Given the description of an element on the screen output the (x, y) to click on. 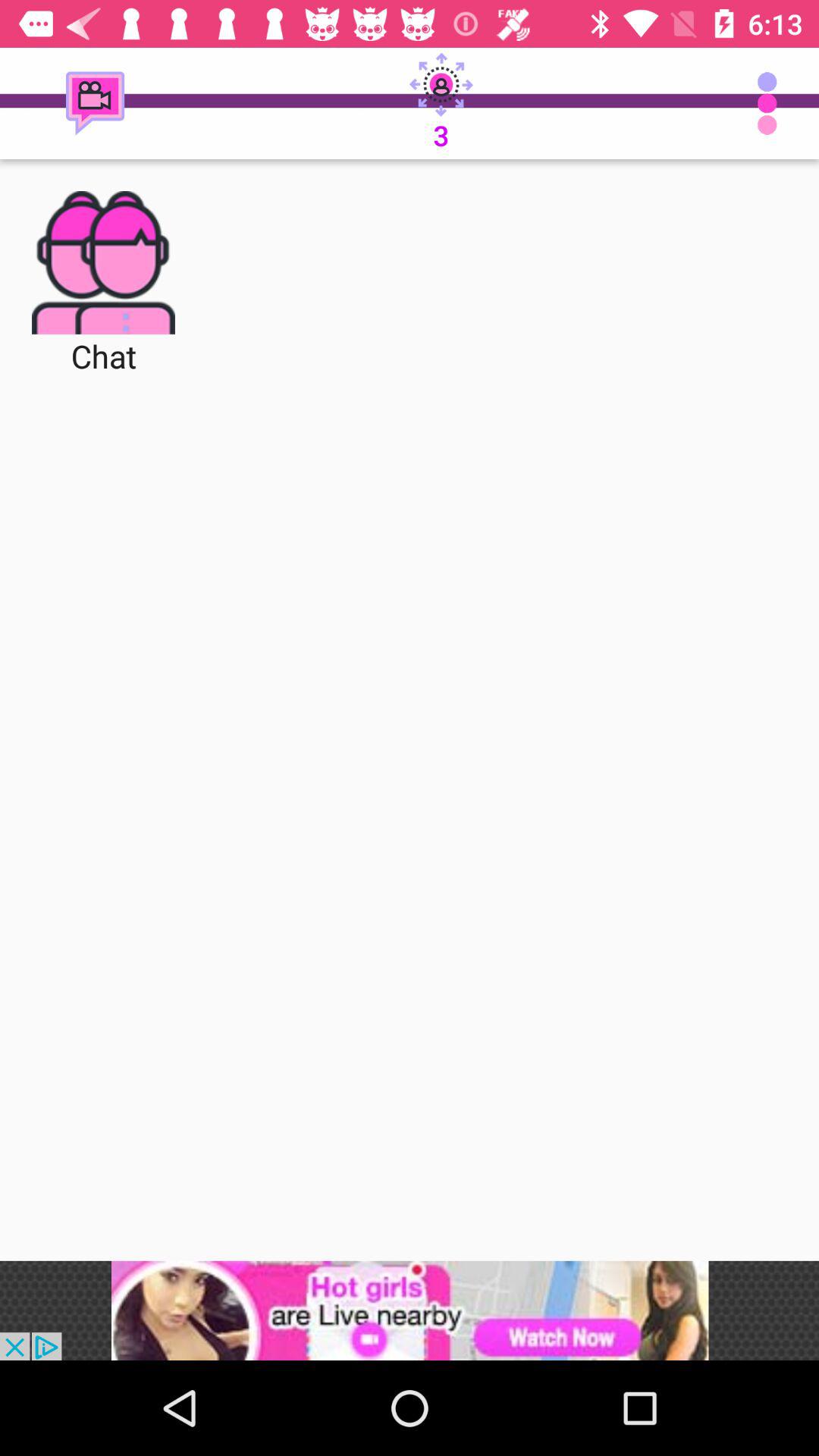
advertisement (409, 1310)
